Given the description of an element on the screen output the (x, y) to click on. 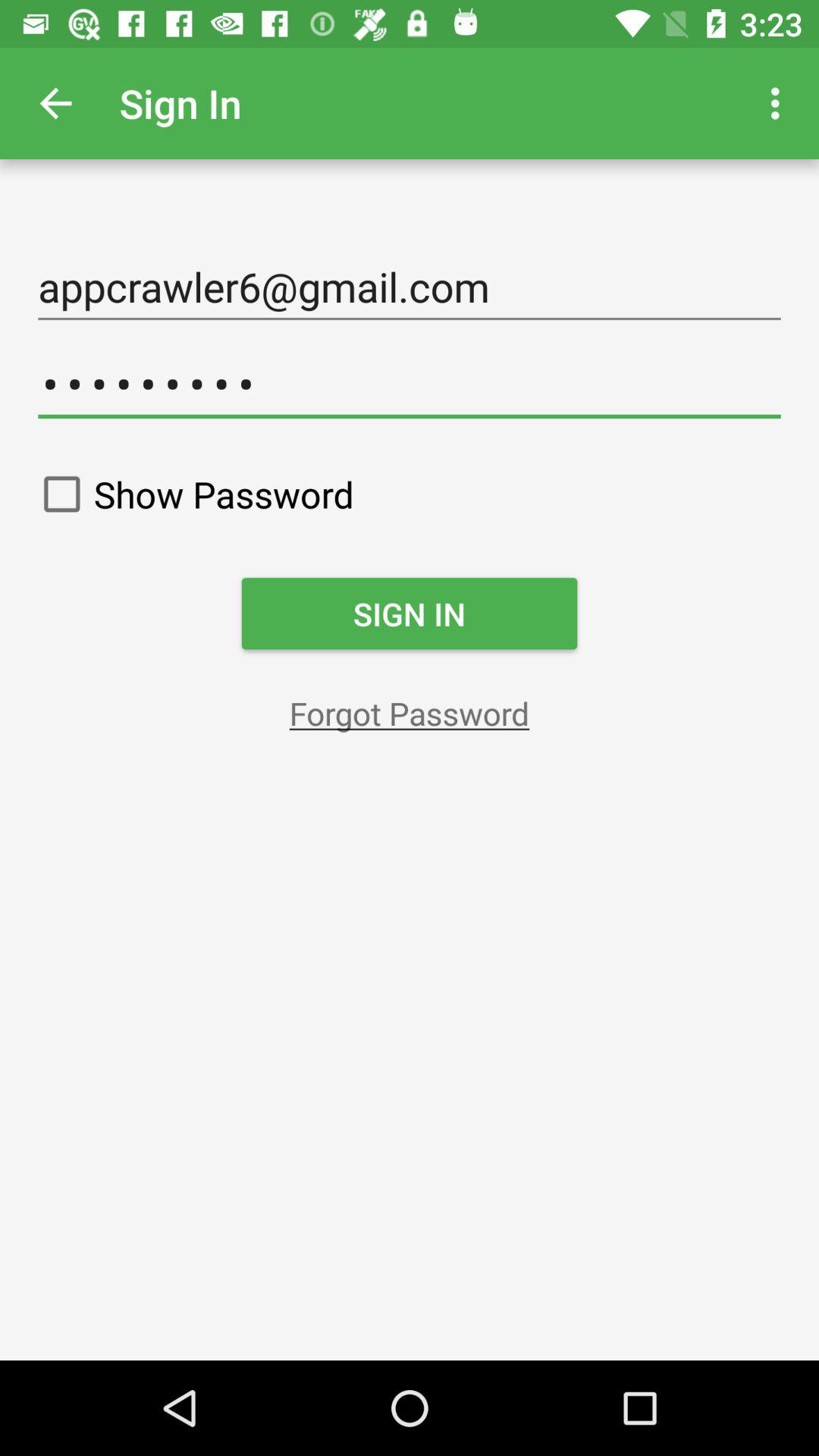
turn off the forgot password icon (409, 712)
